Given the description of an element on the screen output the (x, y) to click on. 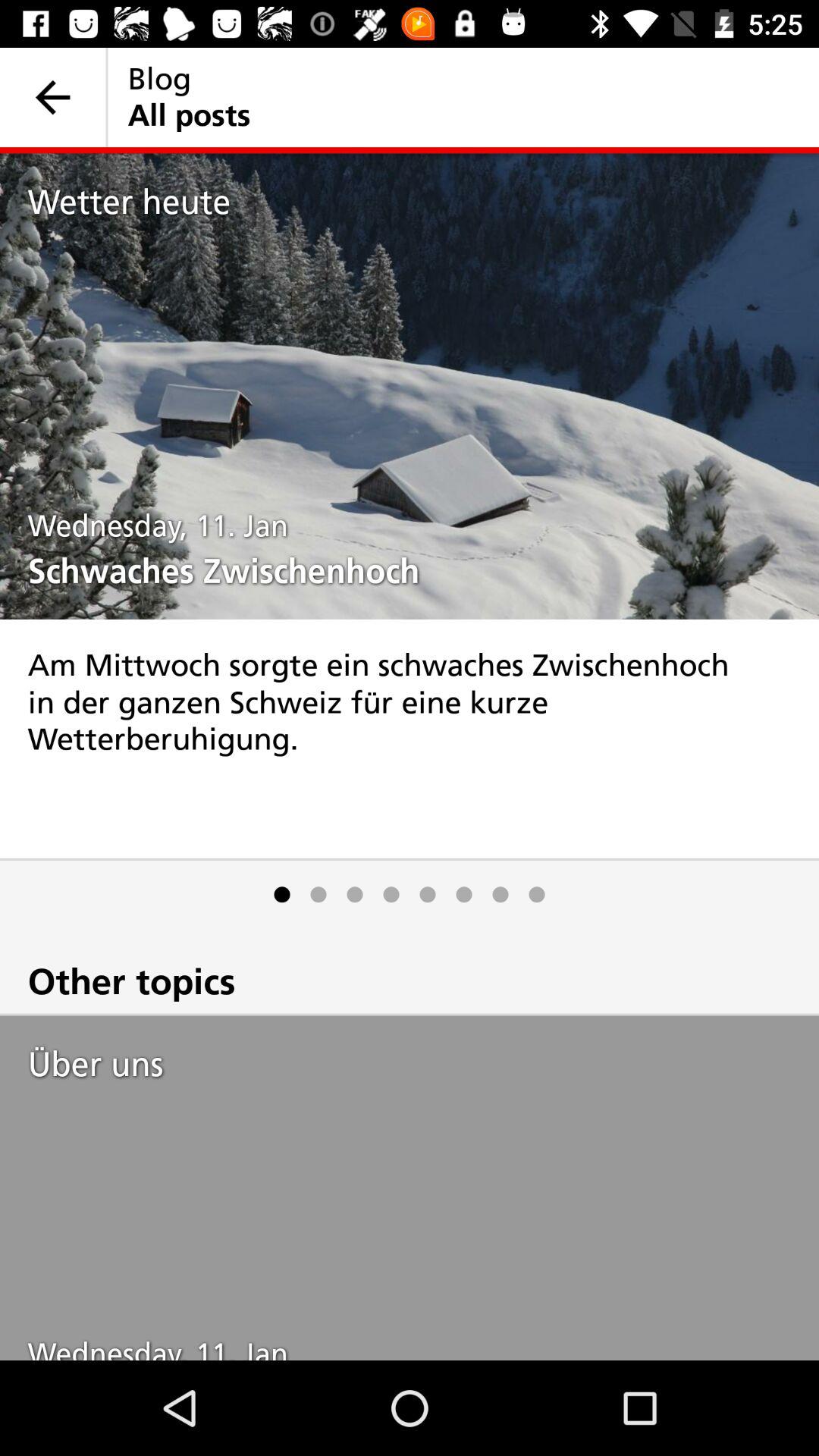
press the icon above the other topics (464, 894)
